Given the description of an element on the screen output the (x, y) to click on. 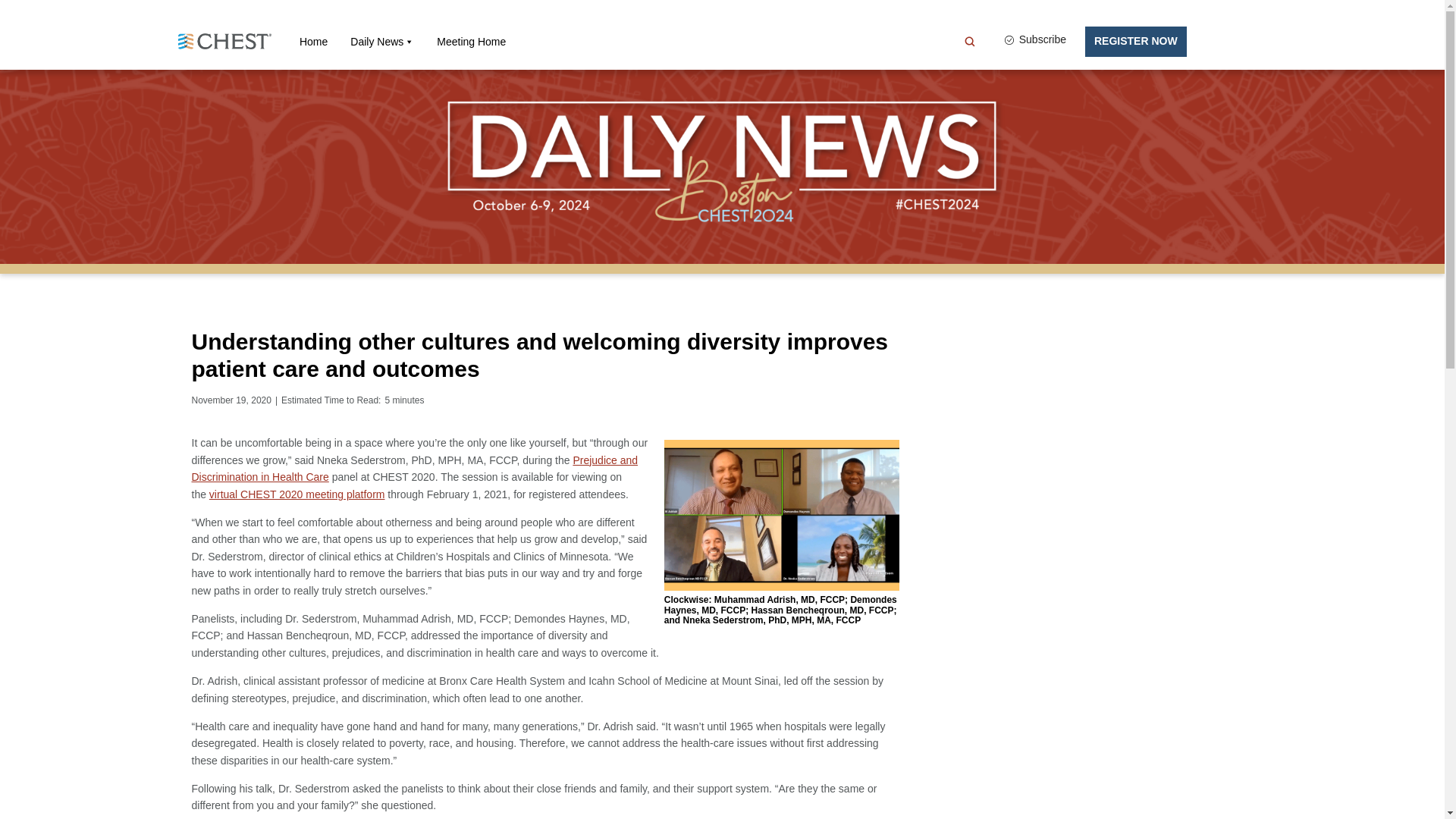
Home (313, 41)
Subscribe (1034, 41)
Search (15, 7)
Meeting Home (470, 41)
Prejudice and Discrimination in Health Care (413, 468)
Daily News (381, 41)
REGISTER NOW (1135, 41)
virtual CHEST 2020 meeting platform (297, 494)
